Given the description of an element on the screen output the (x, y) to click on. 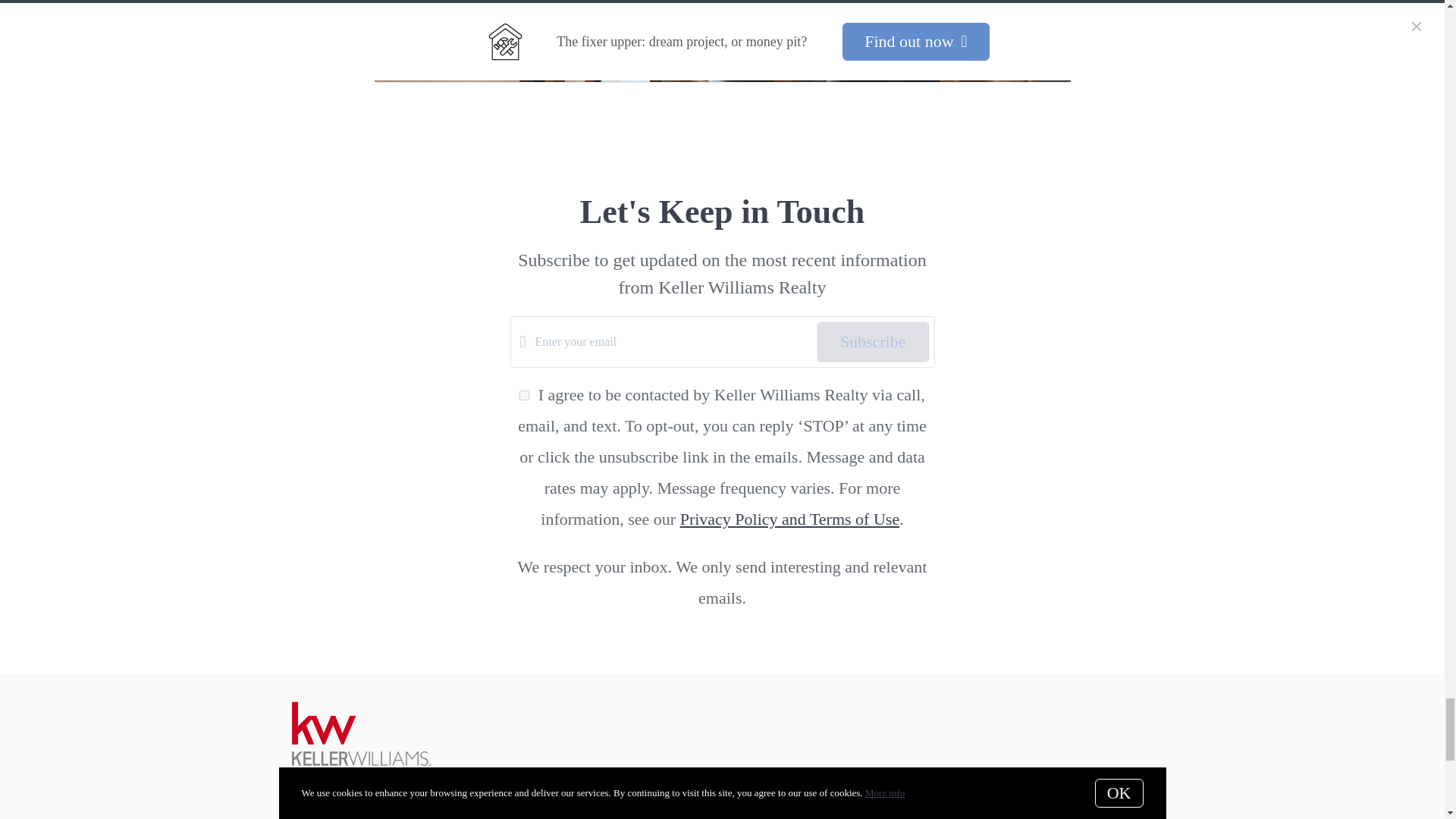
on (524, 395)
